Given the description of an element on the screen output the (x, y) to click on. 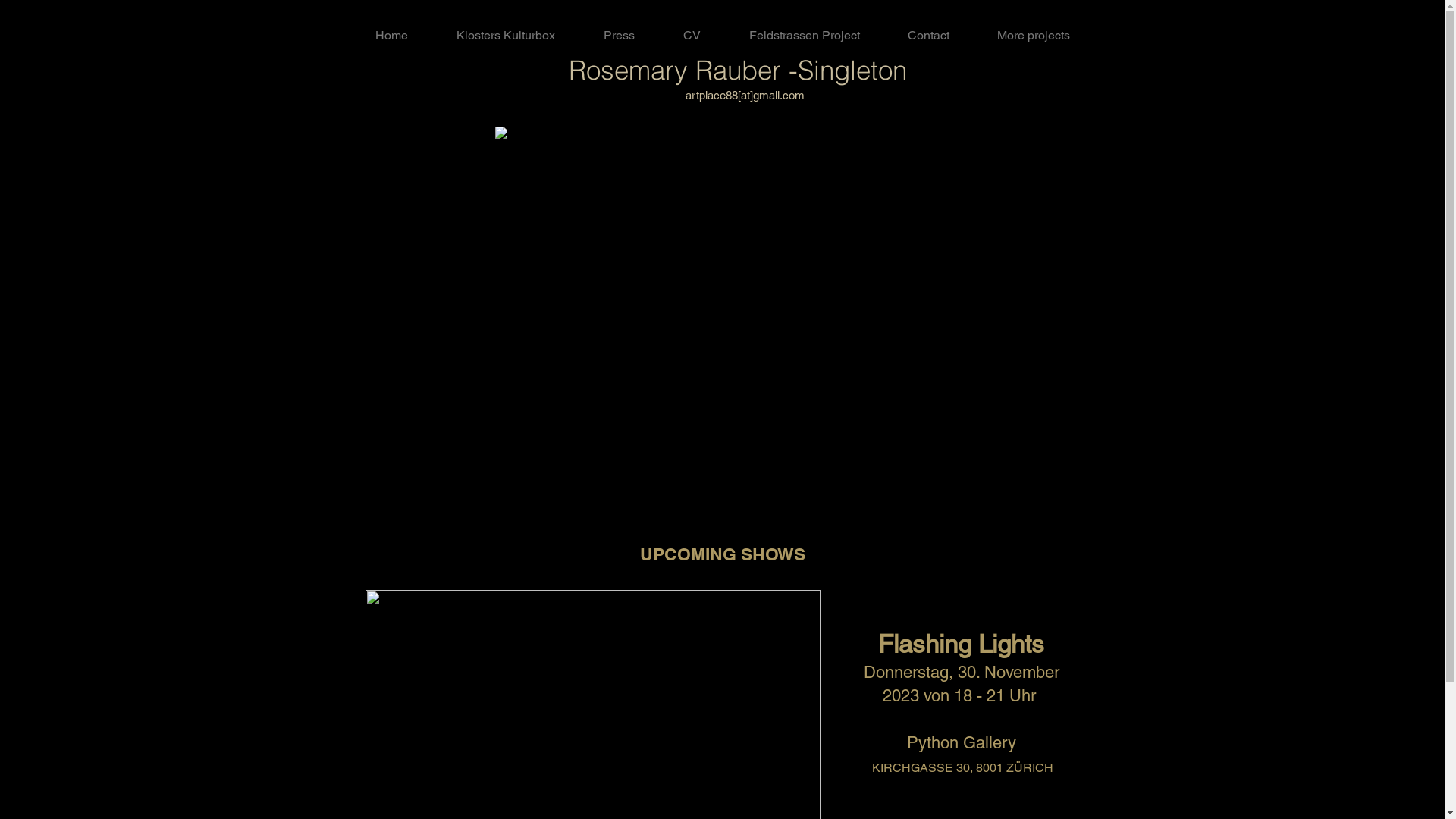
Visitor Analytics Element type: hover (1442, 4)
Klosters Kulturbox Element type: text (505, 35)
Contact Element type: text (928, 35)
Feldstrassen Project Element type: text (804, 35)
More projects Element type: text (1033, 35)
Press Element type: text (618, 35)
Home Element type: text (390, 35)
CV Element type: text (691, 35)
